Given the description of an element on the screen output the (x, y) to click on. 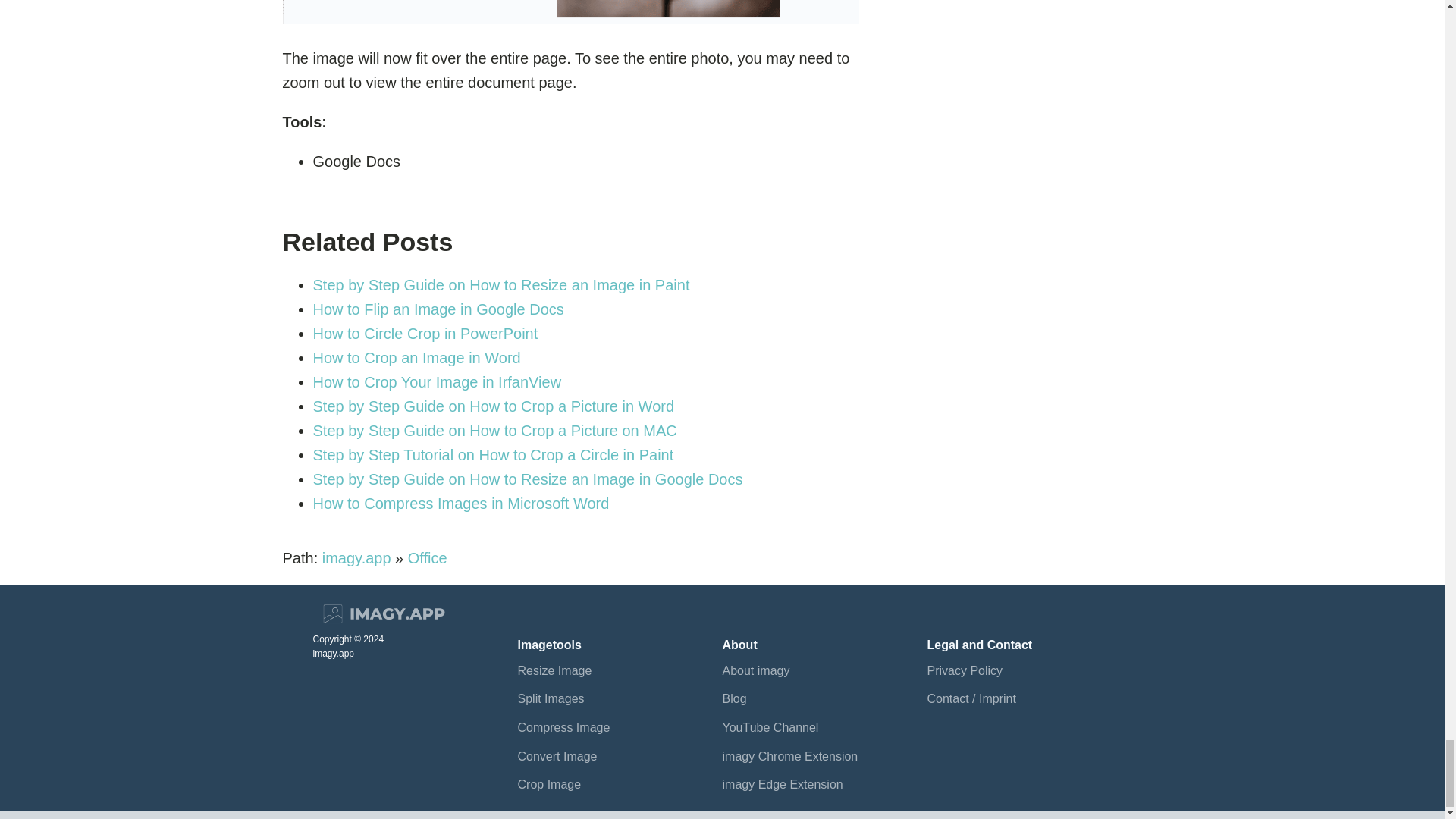
How to Flip an Image in Google Docs (438, 309)
Step by Step Guide on How to Crop a Picture in Word (493, 406)
How to Circle Crop in PowerPoint (425, 333)
How to Crop Your Image in IrfanView (436, 381)
Step by Step Guide on How to Resize an Image in Paint (500, 284)
How to Crop an Image in Word (416, 357)
